Given the description of an element on the screen output the (x, y) to click on. 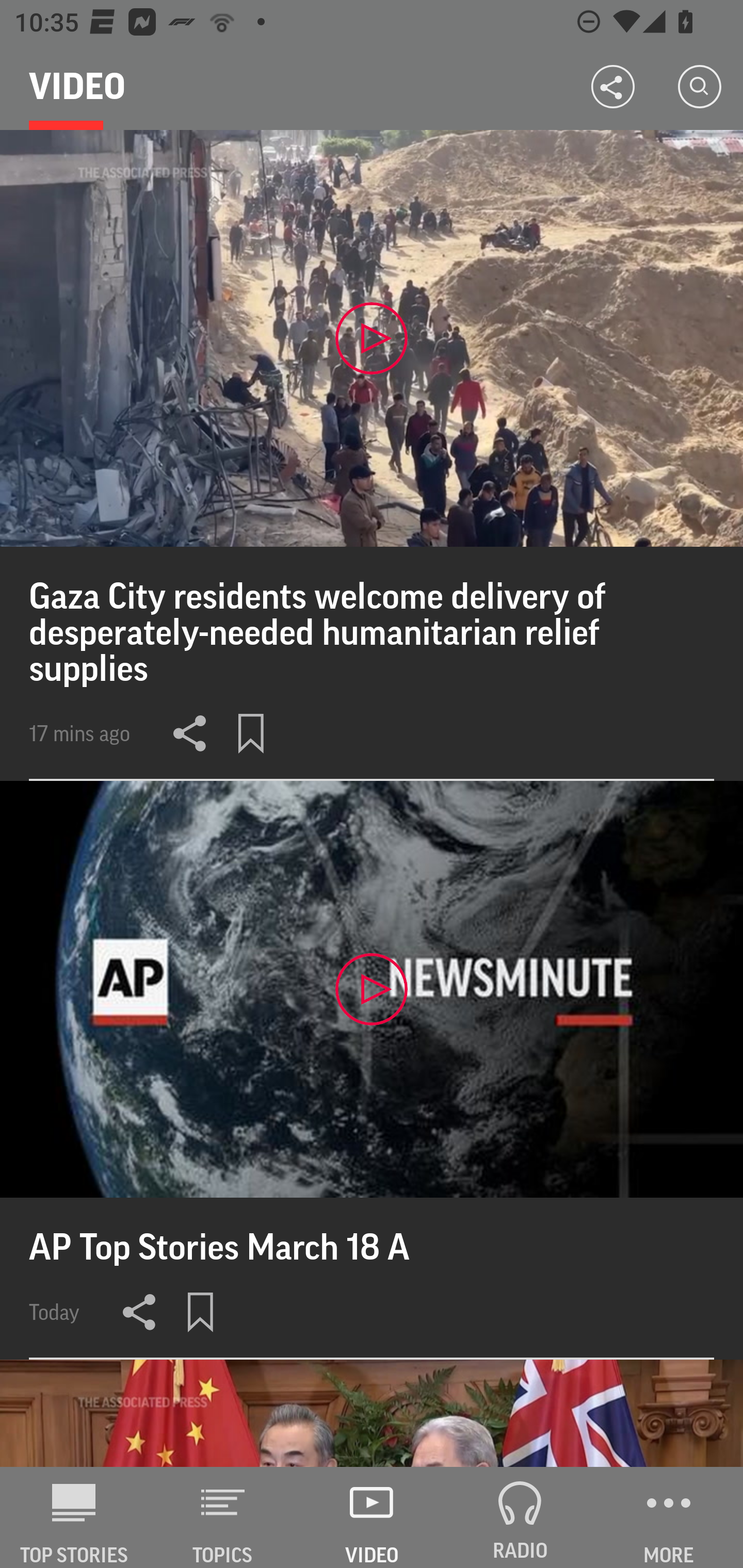
AP Top Stories March 18 A Today (371, 1069)
AP News TOP STORIES (74, 1517)
TOPICS (222, 1517)
VIDEO (371, 1517)
RADIO (519, 1517)
MORE (668, 1517)
